Given the description of an element on the screen output the (x, y) to click on. 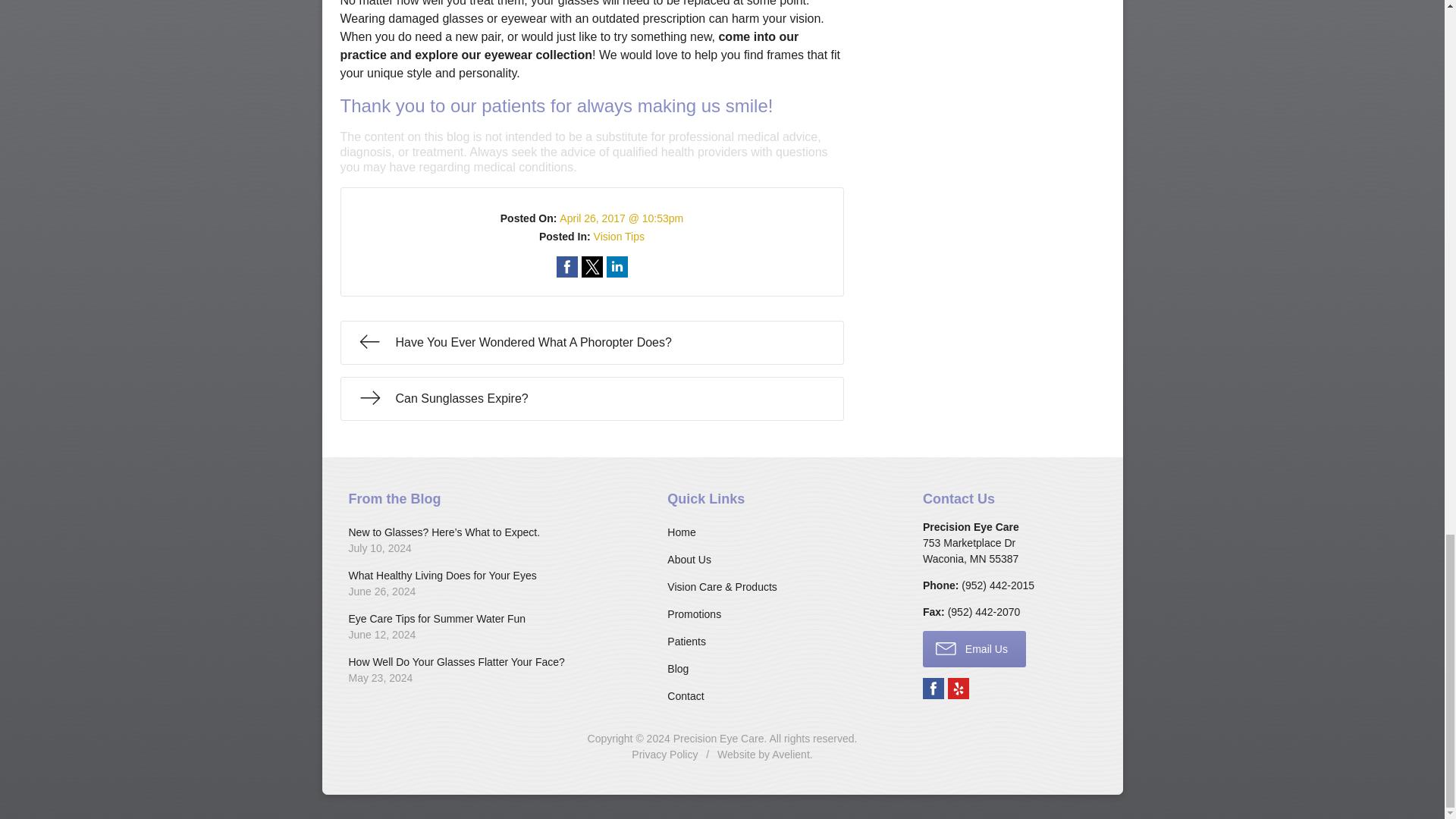
Share on Facebook (567, 266)
Go to our Facebook Page (933, 688)
Open this address in Google Maps (970, 551)
Share on LinkedIn (617, 266)
Share on Twitter (591, 266)
Contact practice (996, 585)
Vision Tips (619, 236)
Share on LinkedIn (617, 266)
Powered by Avelient (790, 754)
Share on Facebook (567, 266)
Can Sunglasses Expire? (591, 397)
Have You Ever Wondered What A Phoropter Does? (591, 341)
Go to our Yelp Page (958, 688)
Share on Twitter (591, 266)
